Given the description of an element on the screen output the (x, y) to click on. 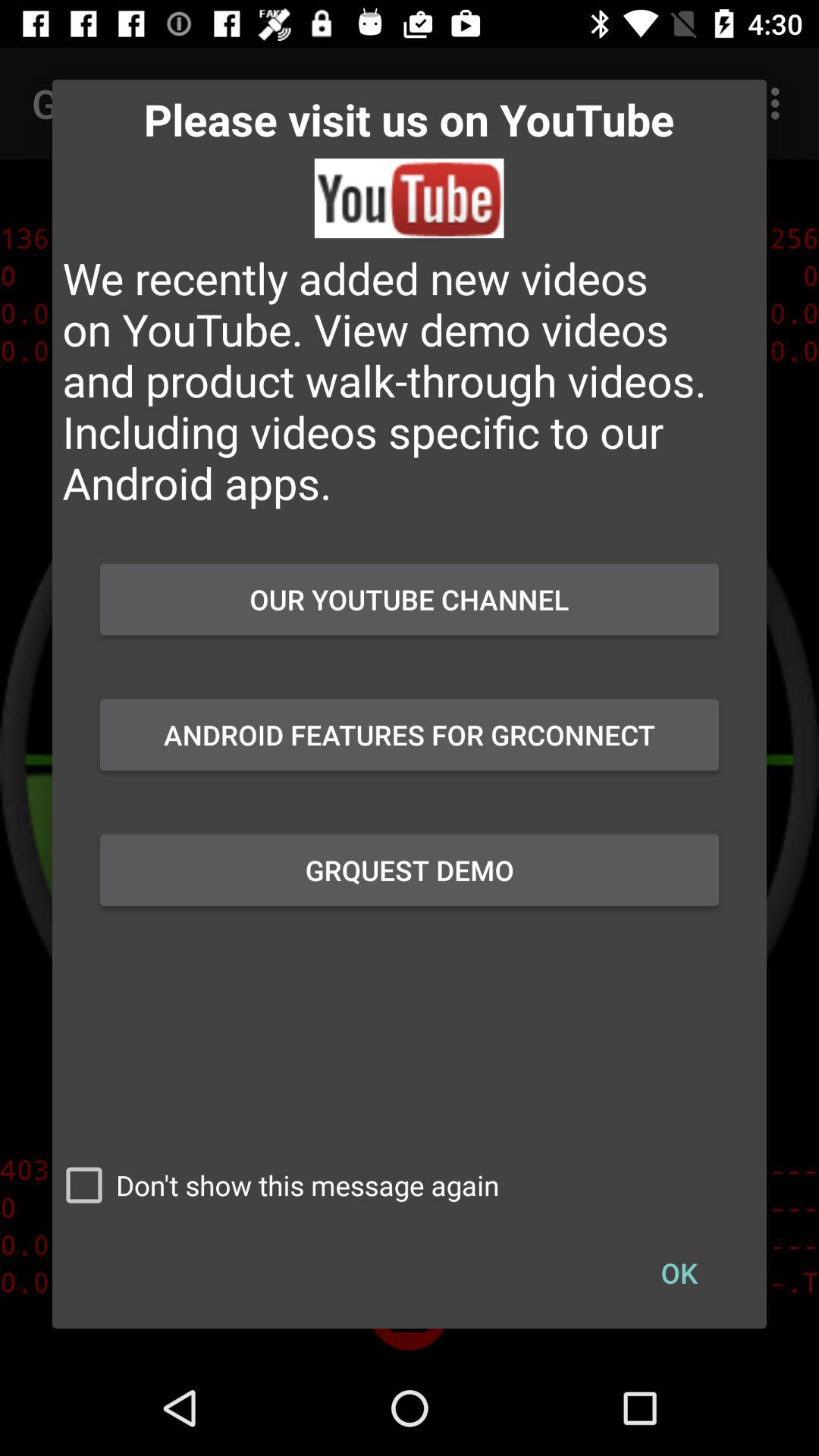
press the icon at the bottom (275, 1185)
